Given the description of an element on the screen output the (x, y) to click on. 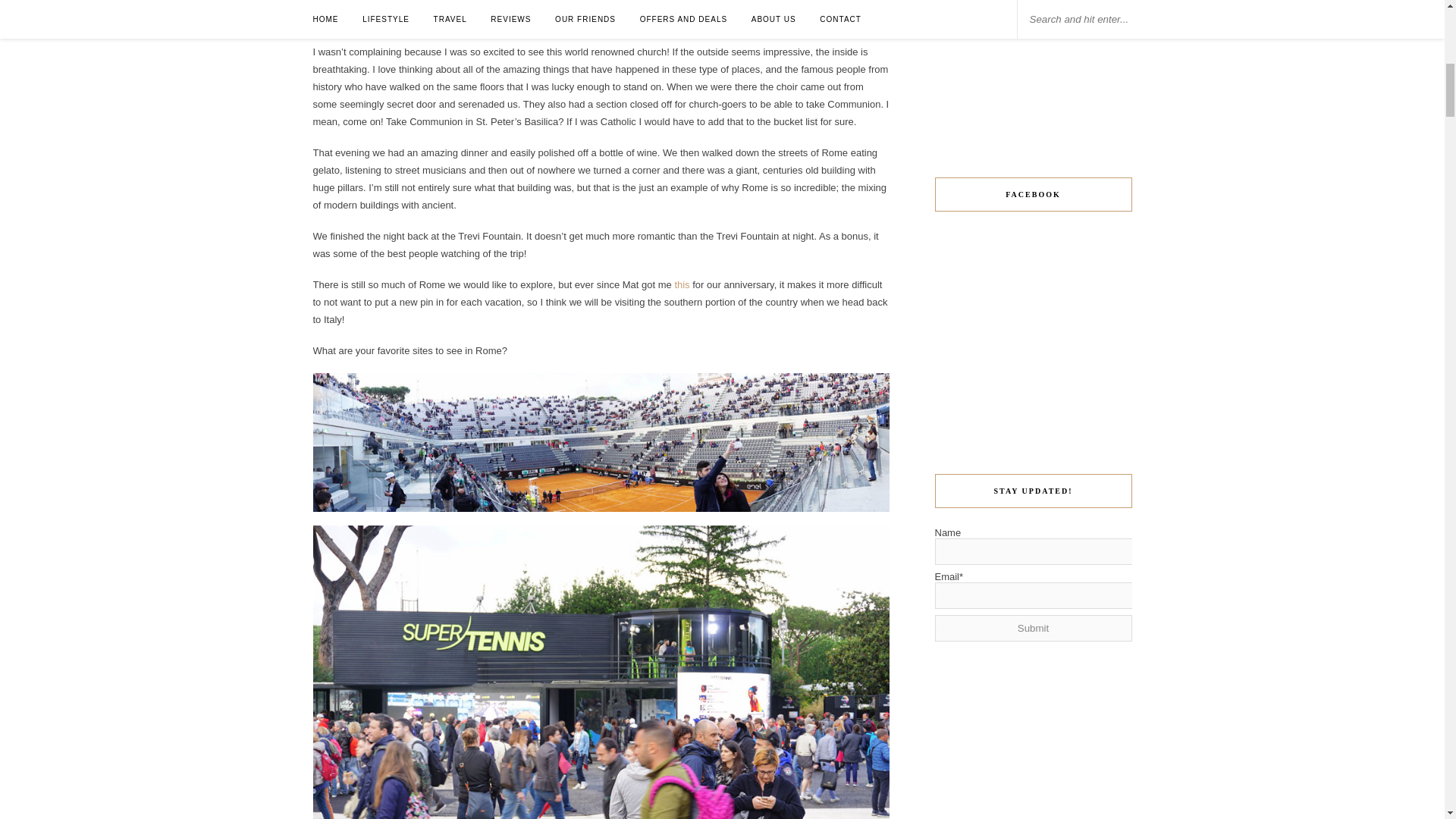
Submit (1032, 628)
